Given the description of an element on the screen output the (x, y) to click on. 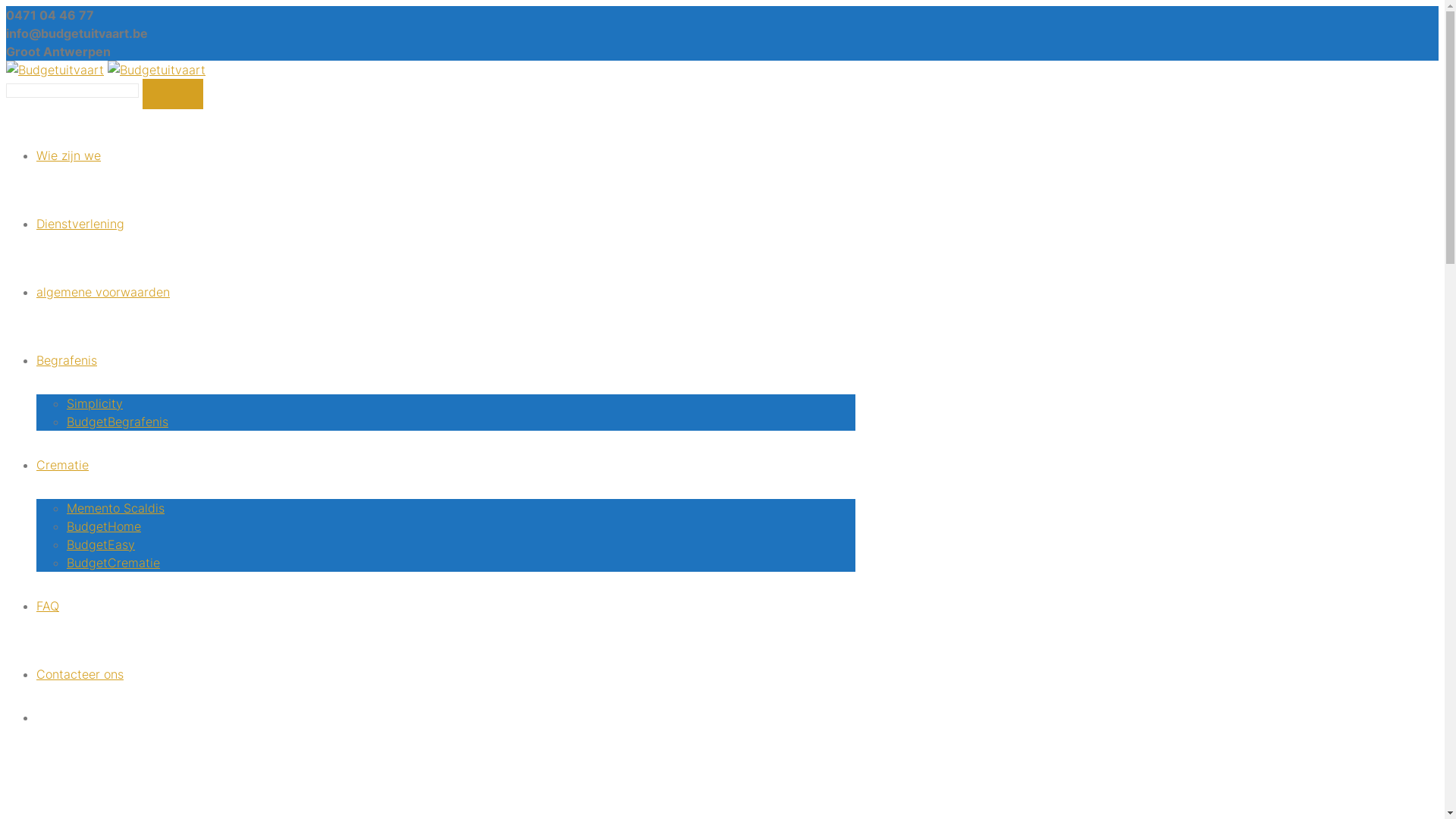
BudgetHome Element type: text (103, 525)
Contacteer ons Element type: text (79, 673)
Crematie Element type: text (62, 464)
FAQ Element type: text (47, 605)
BudgetBegrafenis Element type: text (117, 421)
Simplicity Element type: text (94, 403)
algemene voorwaarden Element type: text (102, 291)
Wie zijn we Element type: text (68, 155)
BudgetCrematie Element type: text (113, 562)
Begrafenis Element type: text (66, 359)
Dienstverlening Element type: text (80, 223)
BudgetEasy Element type: text (100, 544)
Memento Scaldis Element type: text (115, 507)
